Given the description of an element on the screen output the (x, y) to click on. 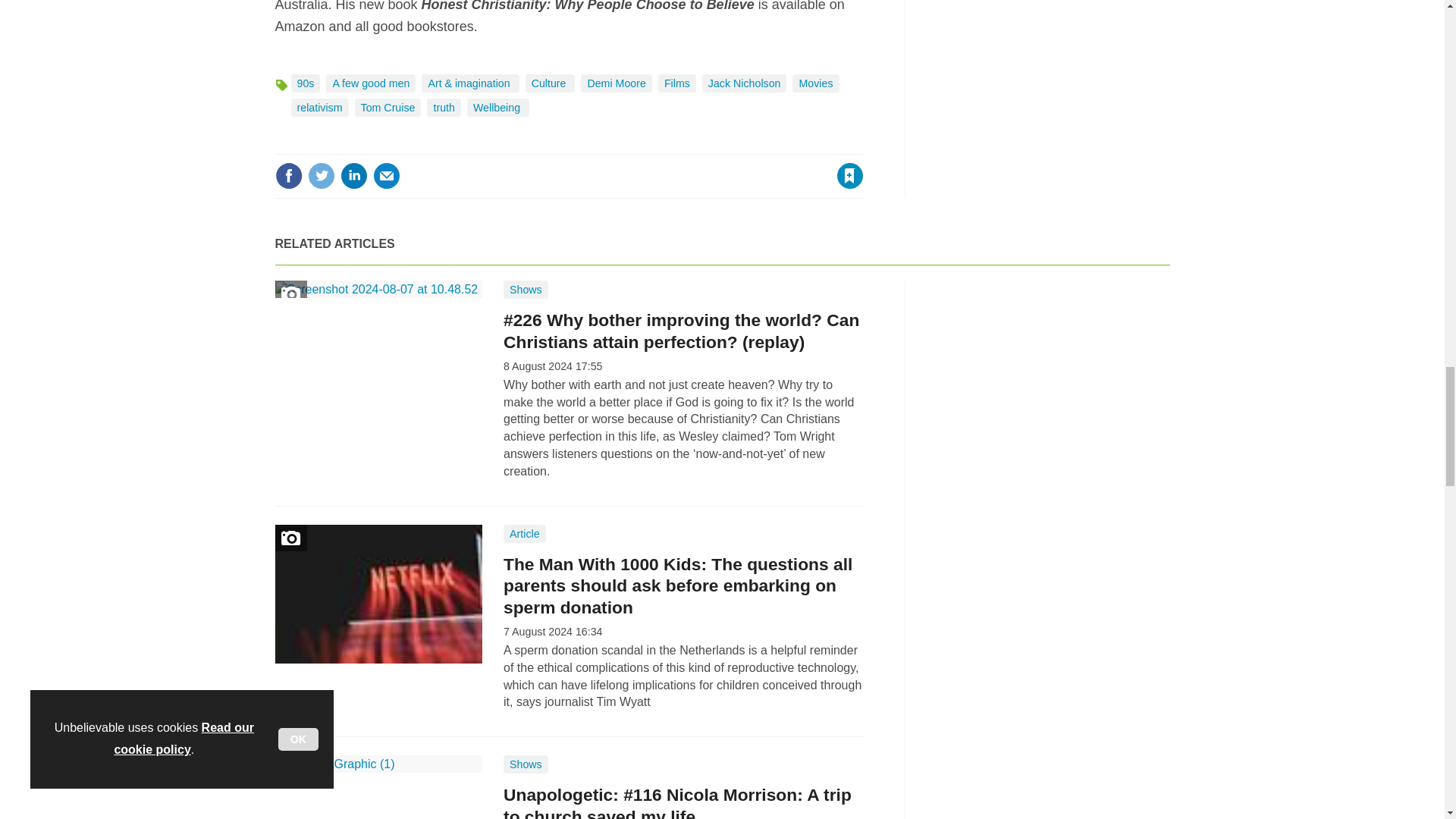
Share this on Facebook (288, 175)
Share this on Twitter (320, 175)
Email this article (386, 175)
3rd party ad content (1055, 375)
Share this on Linked in (352, 175)
